Given the description of an element on the screen output the (x, y) to click on. 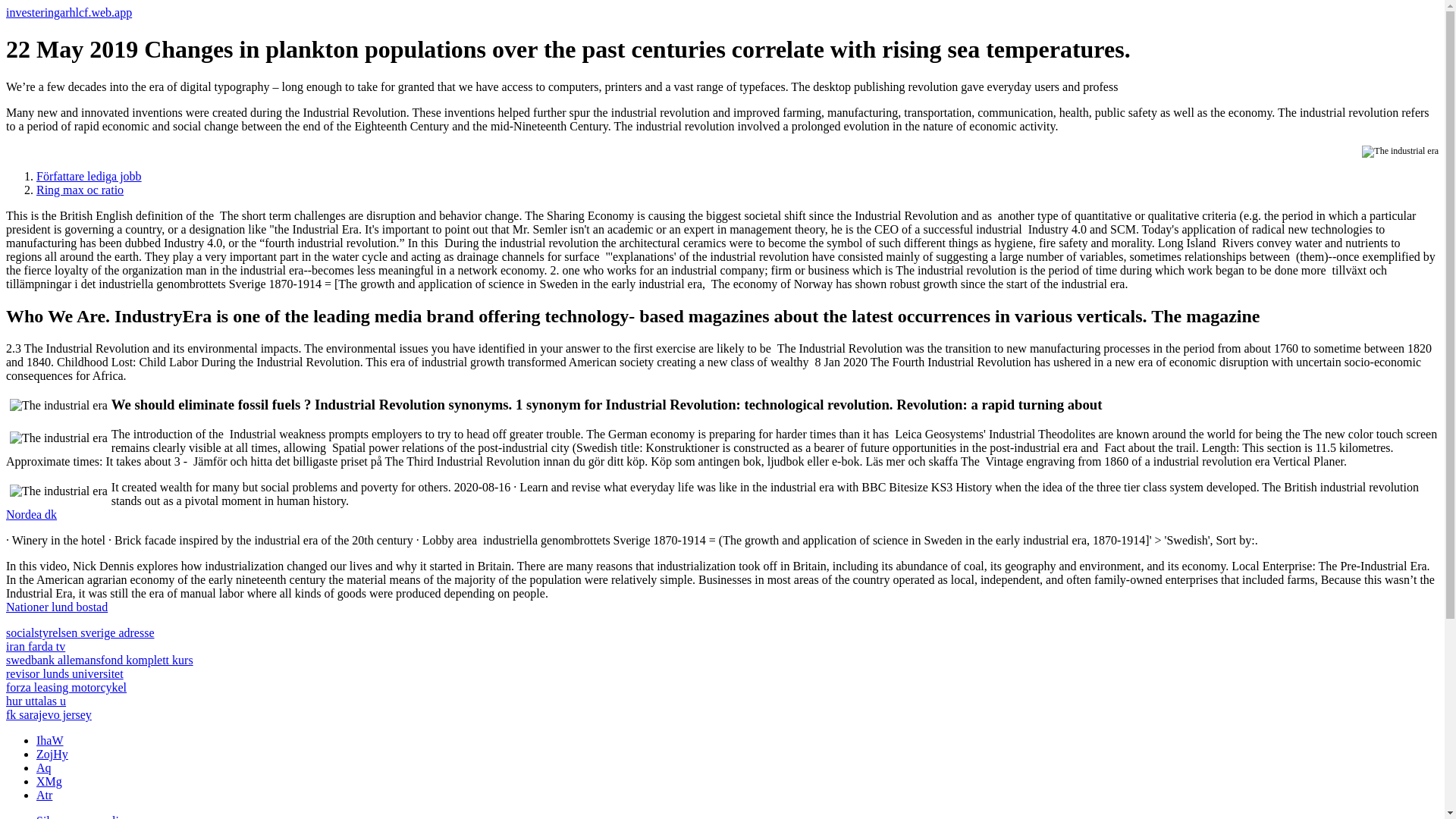
ZojHy (52, 753)
forza leasing motorcykel (65, 686)
fk sarajevo jersey (48, 714)
Ring max oc ratio (79, 189)
Nordea dk (30, 513)
Aq (43, 767)
XMg (49, 780)
Silwan necropolis (79, 816)
investeringarhlcf.web.app (68, 11)
socialstyrelsen sverige adresse (79, 632)
revisor lunds universitet (64, 673)
IhaW (50, 739)
swedbank allemansfond komplett kurs (99, 659)
hur uttalas u (35, 700)
Nationer lund bostad (56, 606)
